Given the description of an element on the screen output the (x, y) to click on. 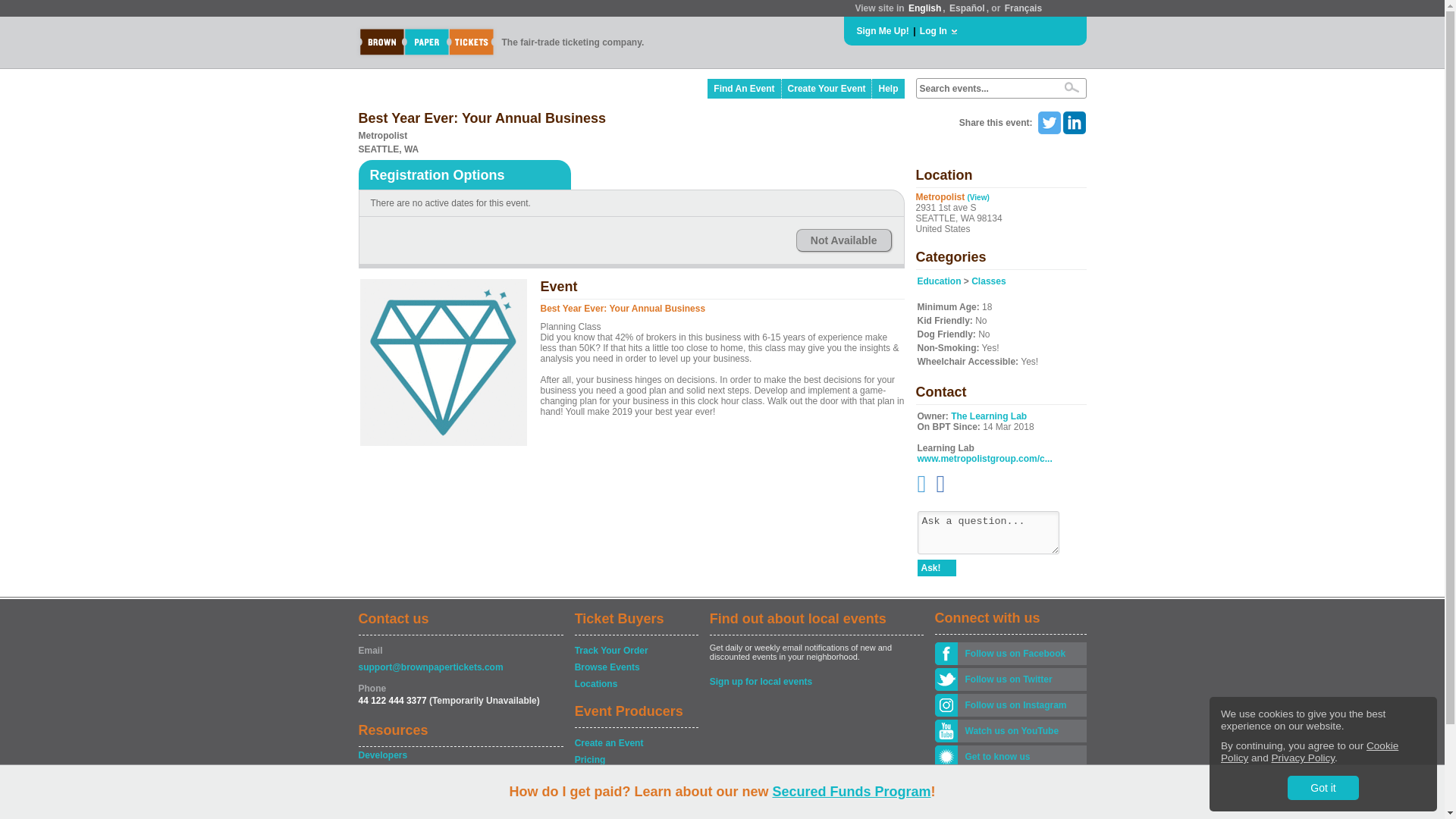
Locations (636, 683)
Create an Event (636, 743)
Sign Me Up! (883, 30)
Browse Events (636, 667)
Help (888, 88)
Search events... (984, 88)
Sign up for local events (816, 681)
Developers (460, 754)
The Learning Lab (988, 416)
Services (636, 776)
